Given the description of an element on the screen output the (x, y) to click on. 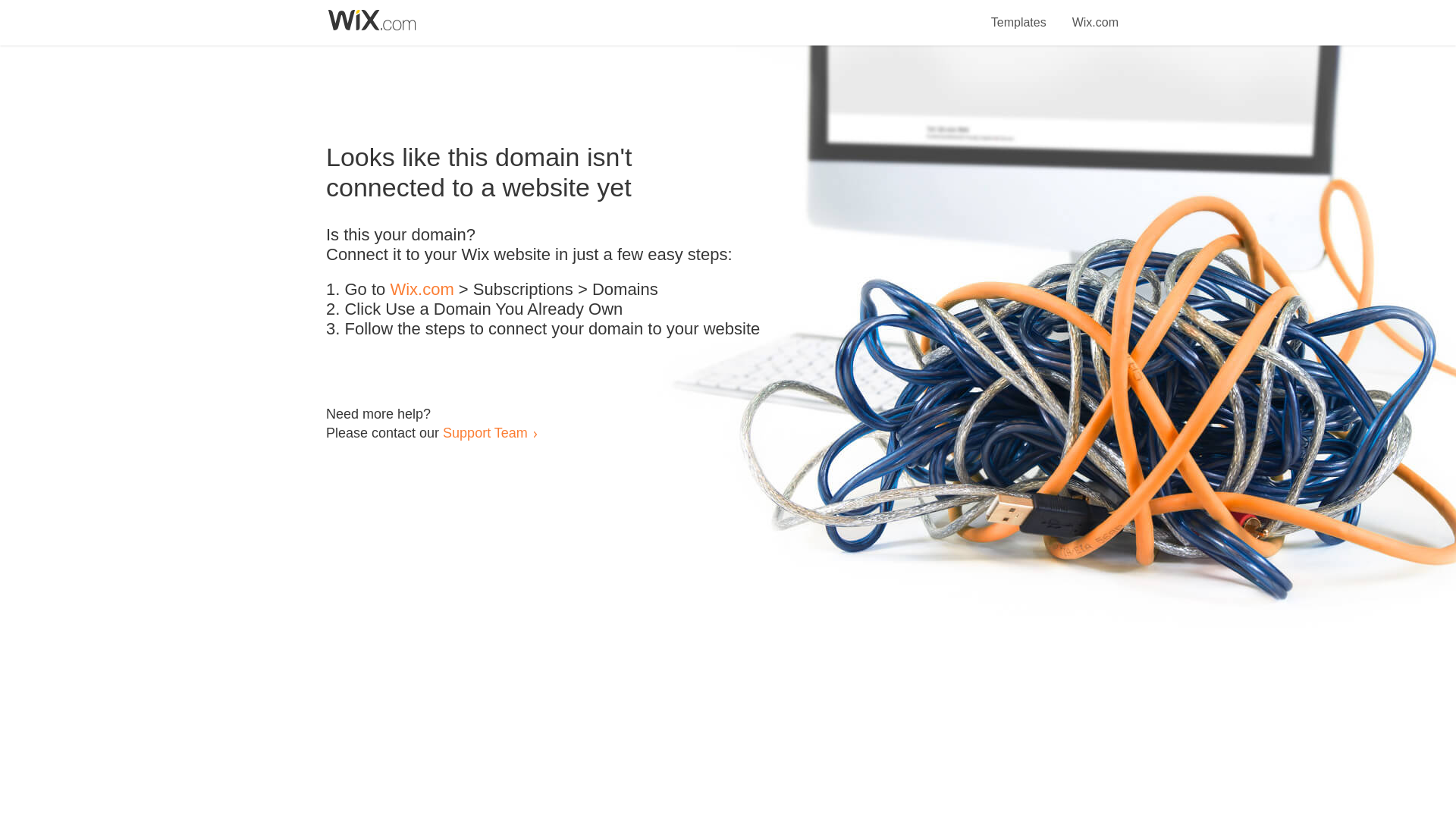
Wix.com (1095, 14)
Support Team (484, 432)
Templates (1018, 14)
Wix.com (421, 289)
